Given the description of an element on the screen output the (x, y) to click on. 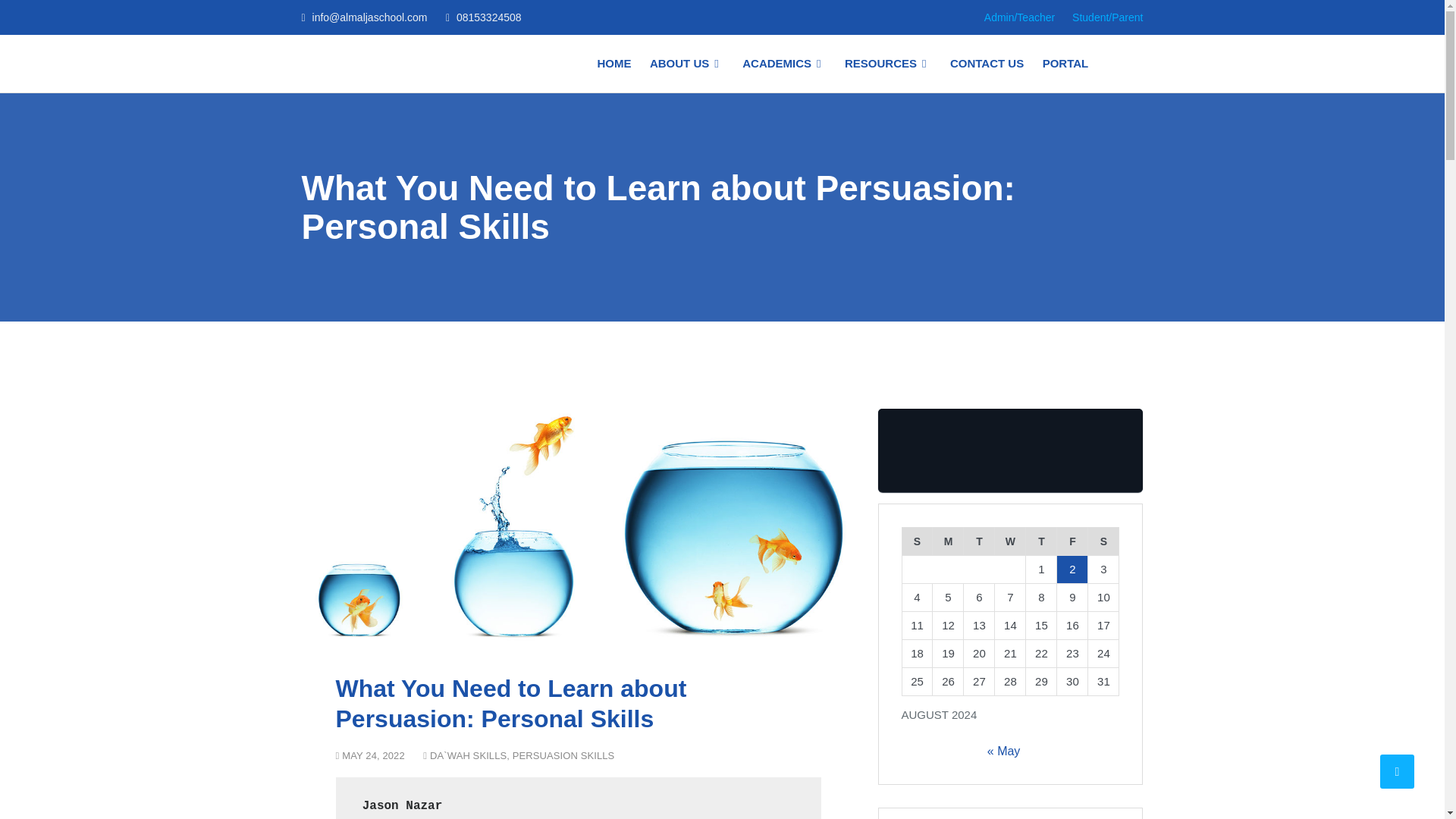
CONTACT US (986, 63)
Friday (1072, 541)
Wednesday (1010, 541)
MAY 24, 2022 (369, 755)
Thursday (1041, 541)
Saturday (1103, 541)
Tuesday (978, 541)
ACADEMICS (783, 63)
Monday (948, 541)
08153324508 (489, 17)
Sunday (917, 541)
RESOURCES (888, 63)
ABOUT US (687, 63)
PORTAL (1062, 63)
